Given the description of an element on the screen output the (x, y) to click on. 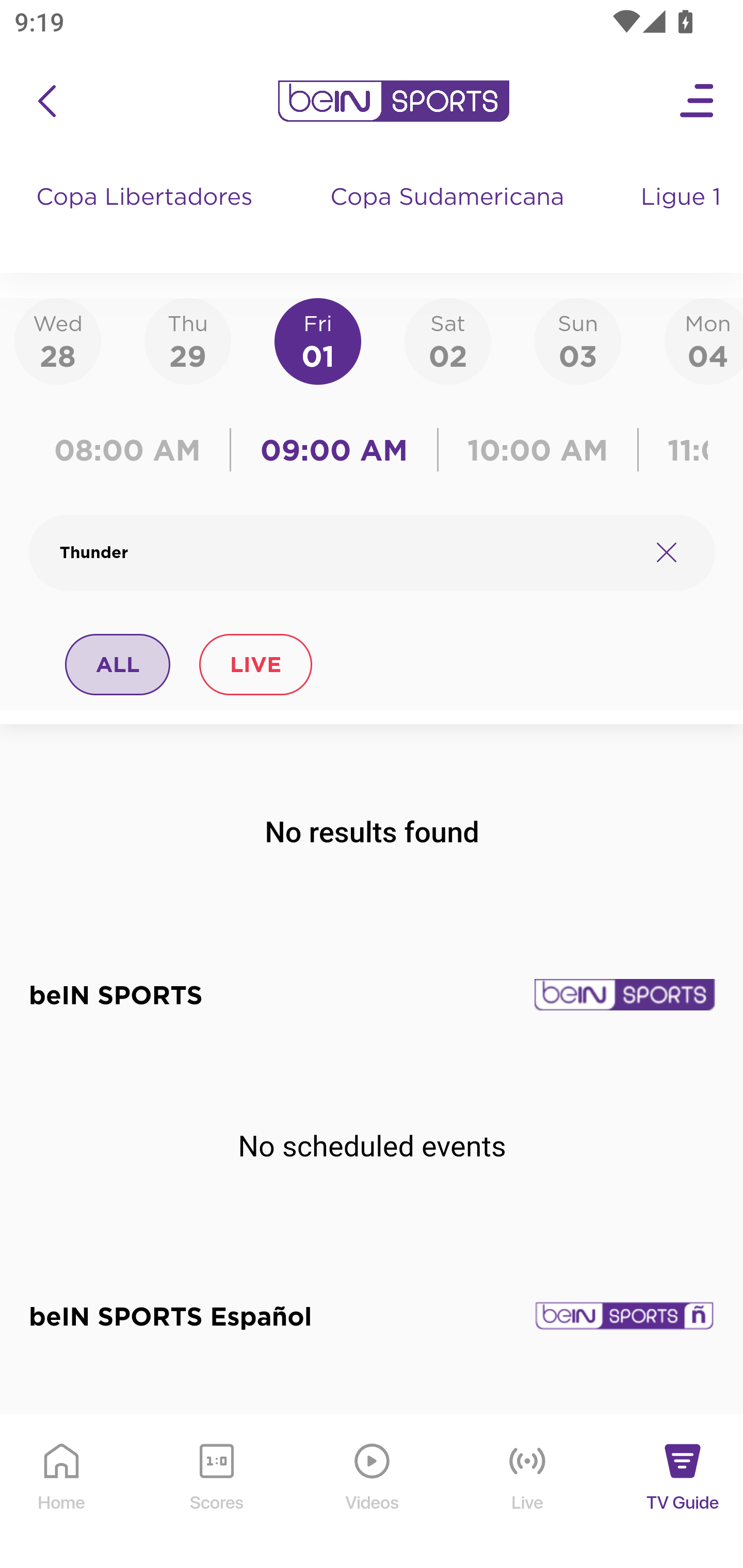
en-us?platform=mobile_android bein logo (392, 101)
icon back (46, 101)
Open Menu Icon (697, 101)
Copa Libertadores (146, 216)
Copa Sudamericana (448, 216)
Ligue 1 (682, 216)
Wed28 (58, 340)
Thu29 (187, 340)
Fri01 (318, 340)
Sat02 (447, 340)
Sun03 (578, 340)
Mon04 (703, 340)
08:00 AM (134, 449)
09:00 AM (334, 449)
10:00 AM (537, 449)
Thunder (346, 552)
ALL (118, 663)
LIVE (255, 663)
Home Home Icon Home (61, 1491)
Scores Scores Icon Scores (216, 1491)
Videos Videos Icon Videos (372, 1491)
TV Guide TV Guide Icon TV Guide (682, 1491)
